Given the description of an element on the screen output the (x, y) to click on. 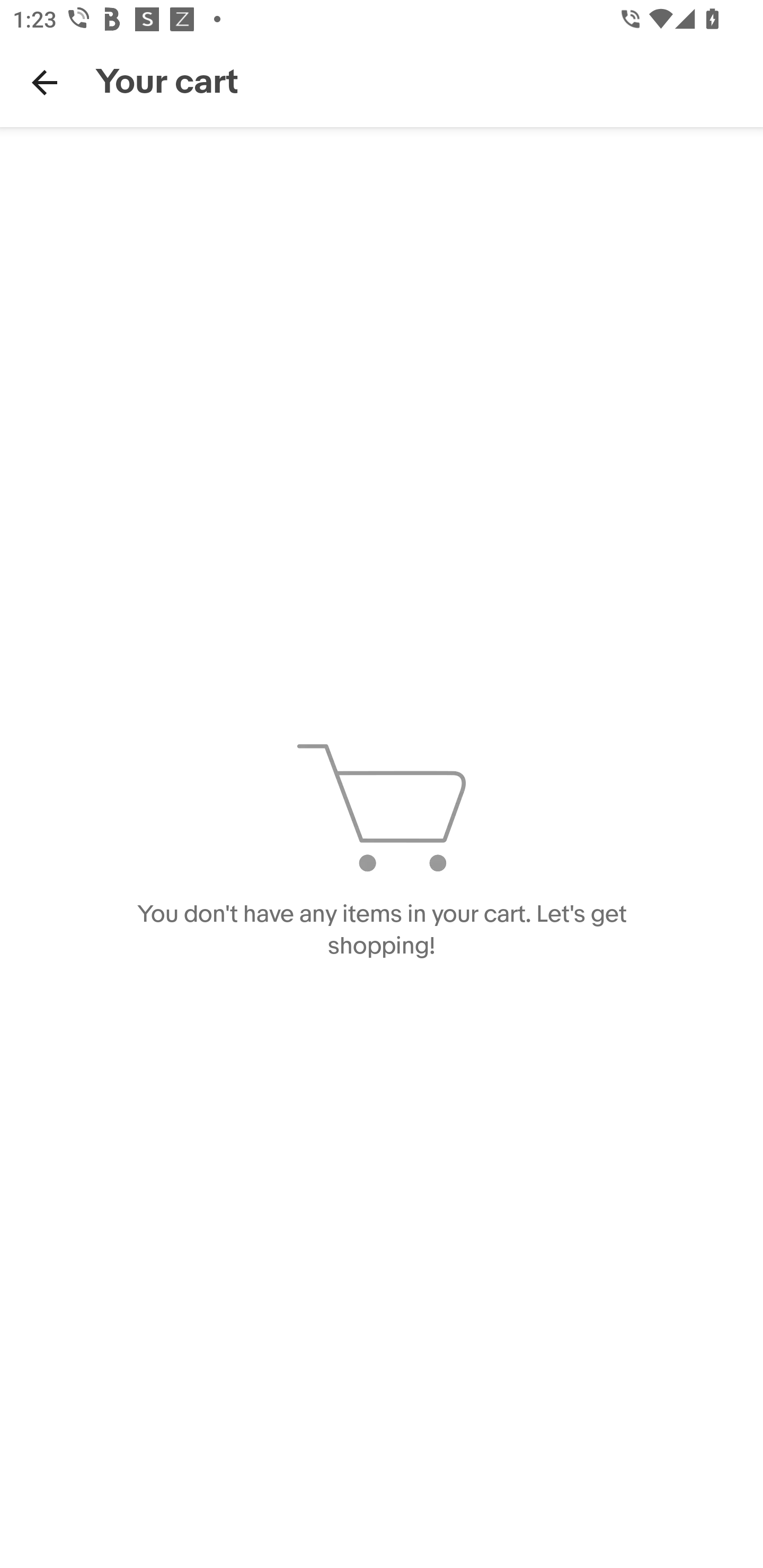
Navigate up (44, 82)
